Given the description of an element on the screen output the (x, y) to click on. 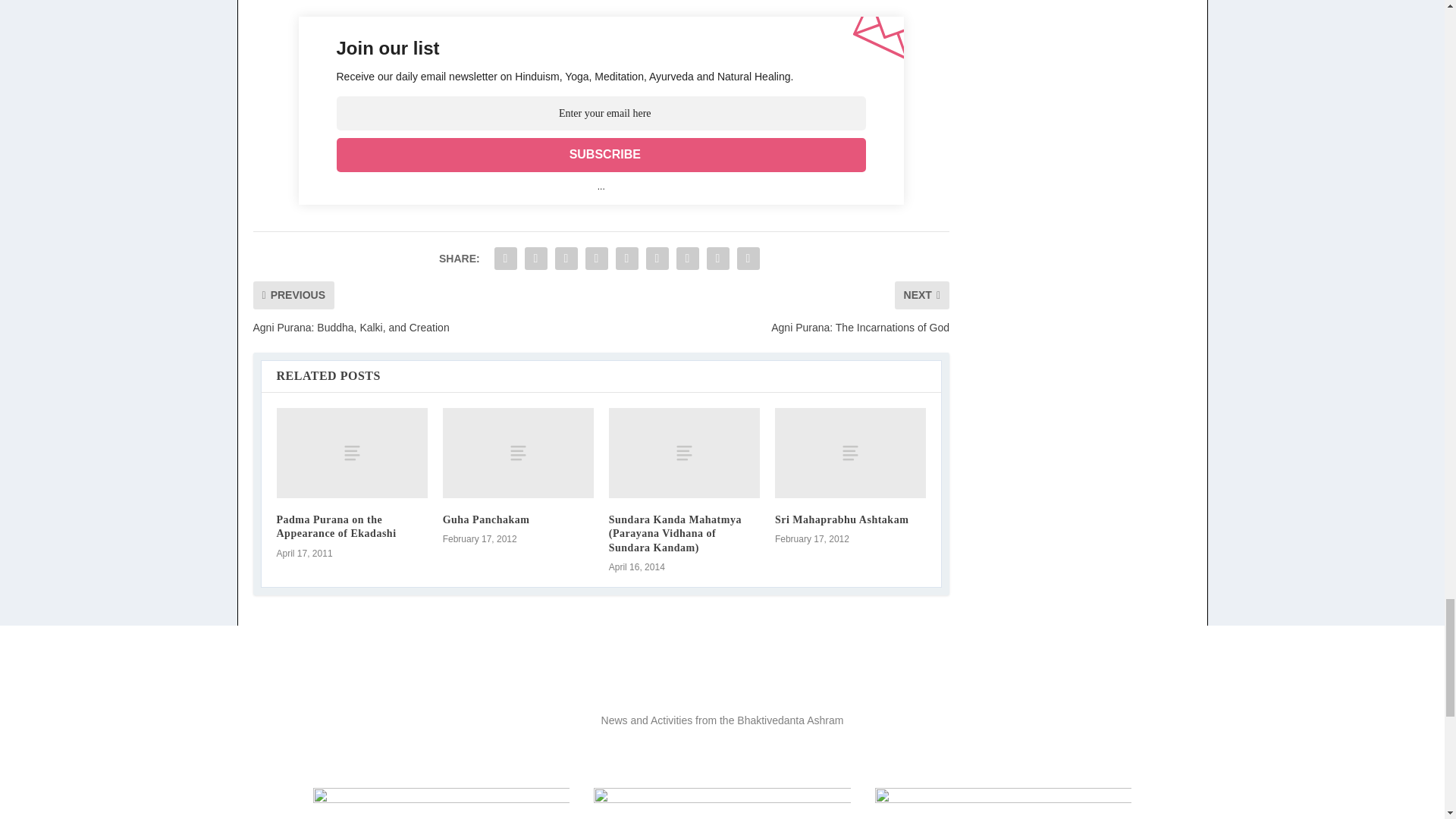
Share "Agni Purana: Harivamsha and Mahabharata" via Facebook (505, 258)
Subscribe (601, 154)
Subscribe (601, 154)
